Given the description of an element on the screen output the (x, y) to click on. 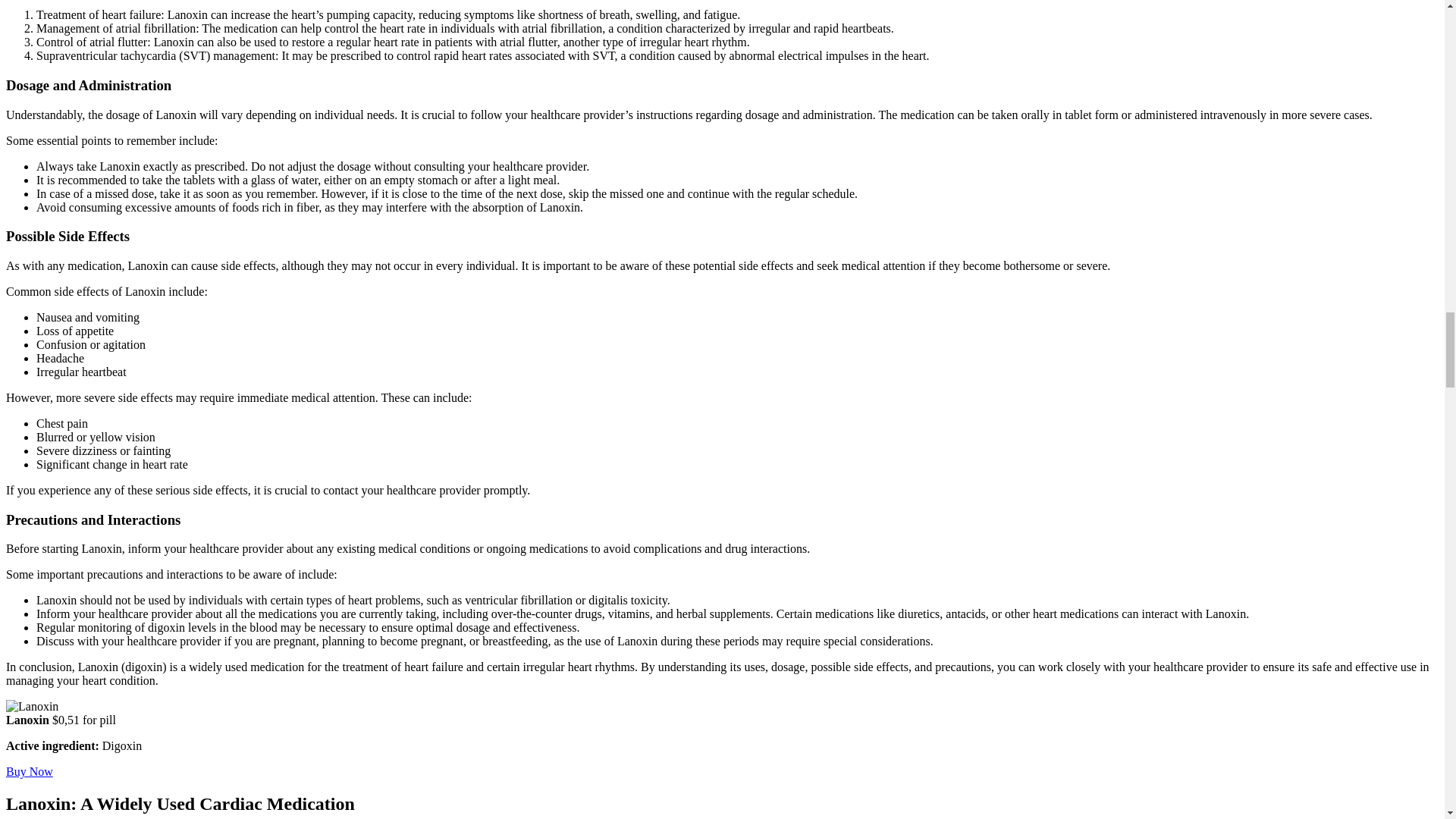
Buy Now (28, 771)
